Given the description of an element on the screen output the (x, y) to click on. 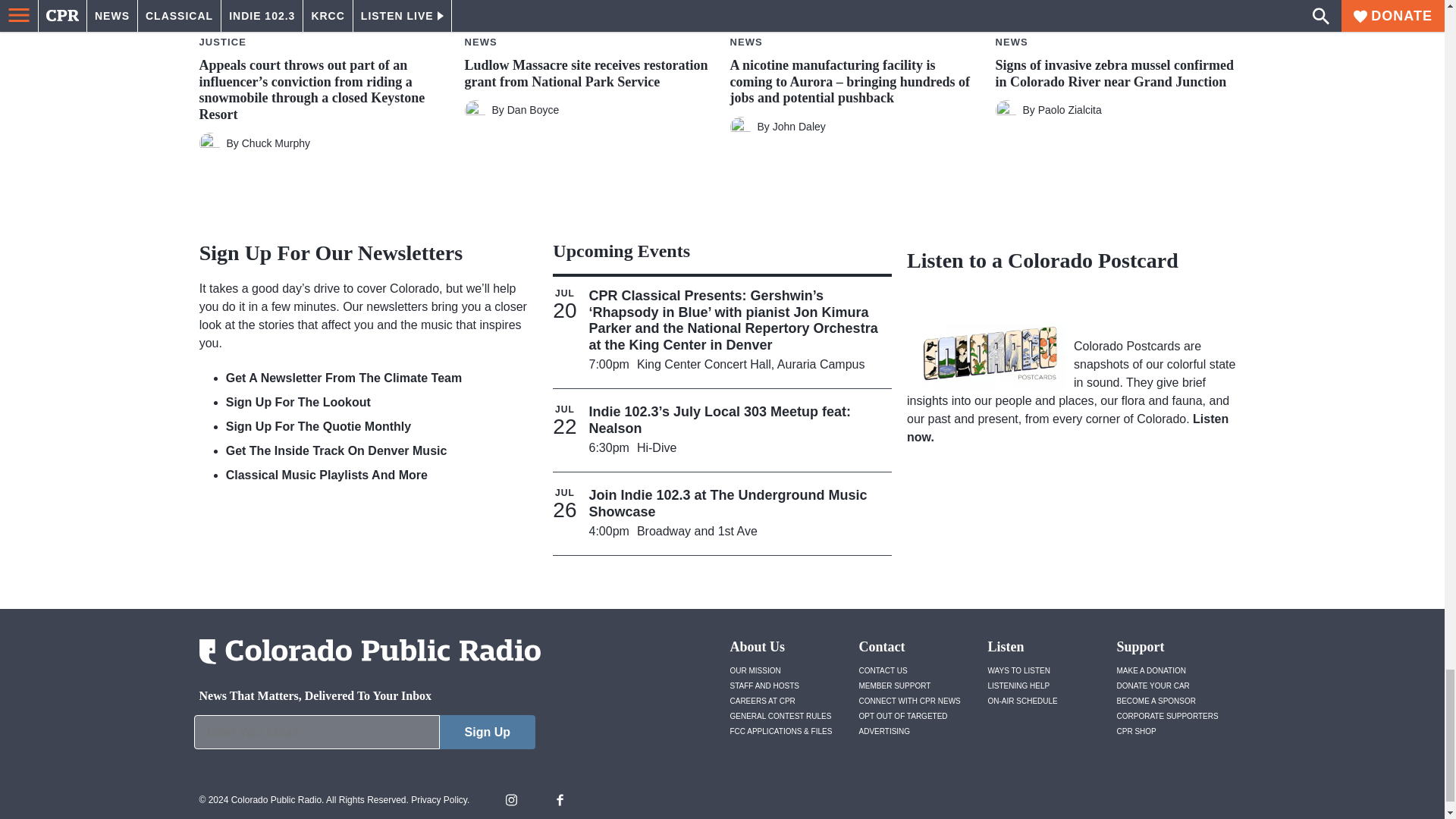
footer (364, 735)
